Given the description of an element on the screen output the (x, y) to click on. 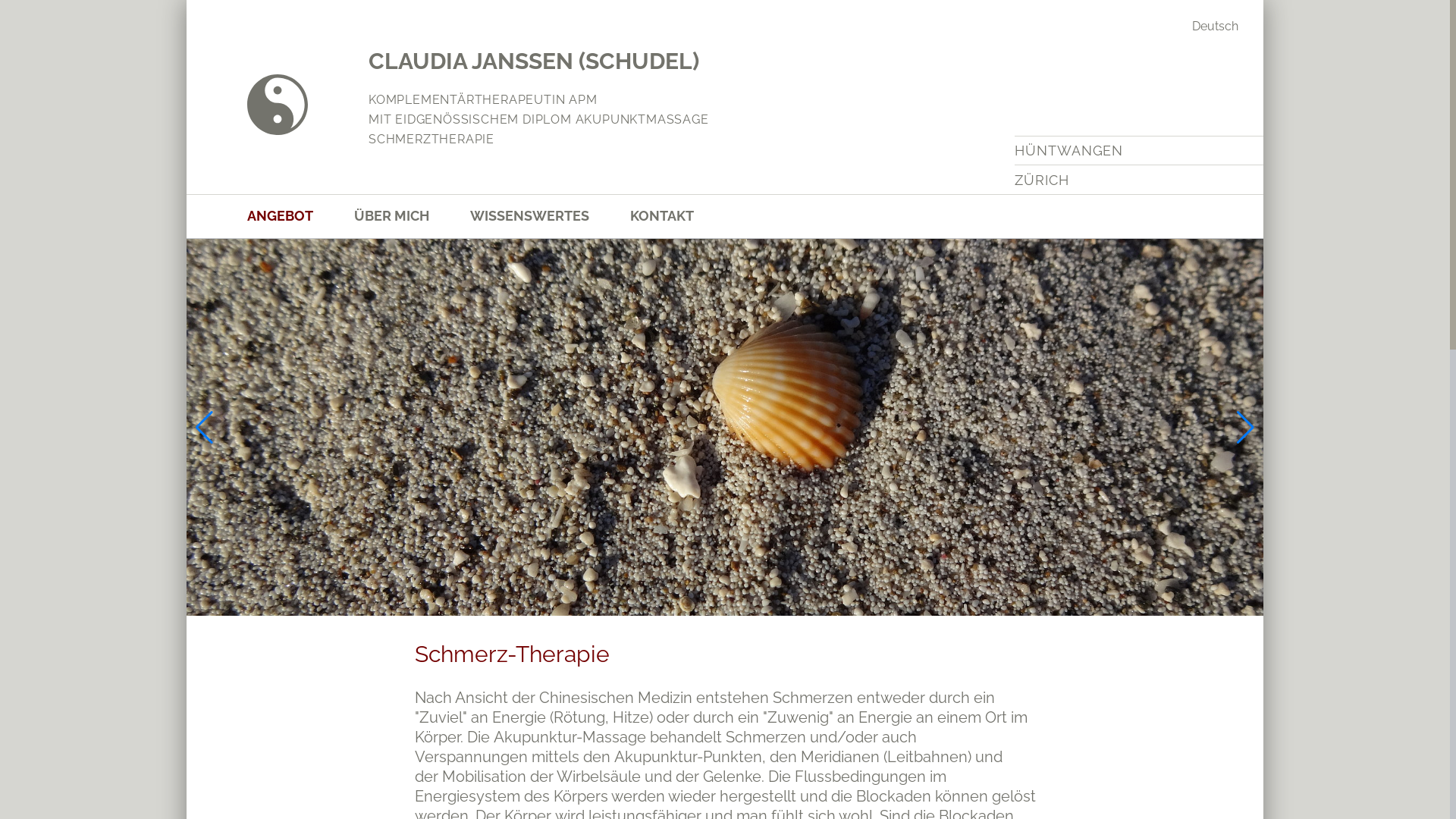
WISSENSWERTES Element type: text (550, 215)
CLAUDIA JANSSEN (SCHUDEL) Element type: text (533, 60)
ANGEBOT Element type: text (300, 215)
KONTAKT Element type: text (682, 215)
